Given the description of an element on the screen output the (x, y) to click on. 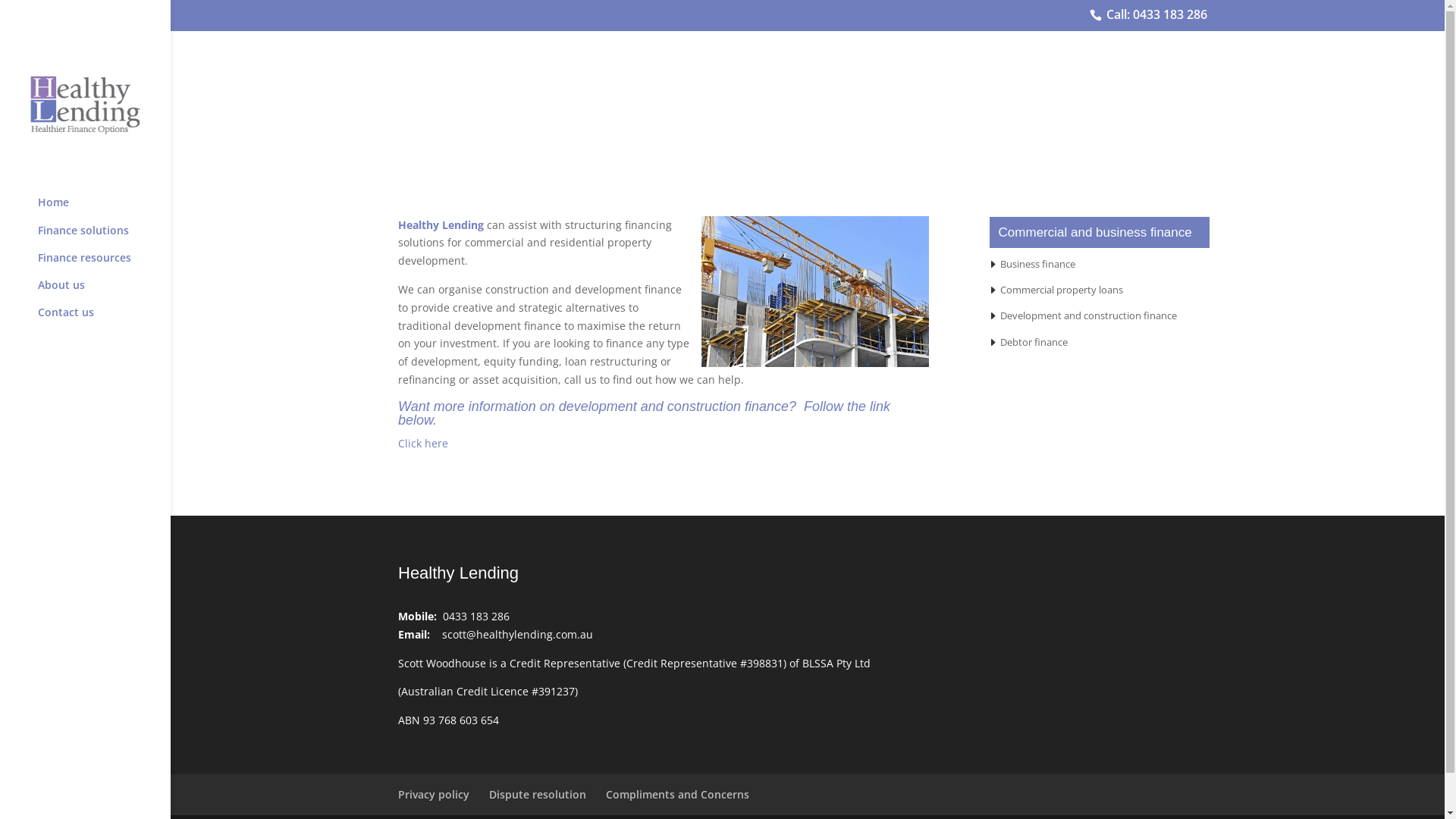
Click here Element type: text (423, 443)
Home Element type: text (100, 202)
Business finance Element type: text (1037, 263)
Commercial property loans Element type: text (1061, 289)
About us Element type: text (100, 284)
Finance resources Element type: text (100, 257)
Compliments and Concerns Element type: text (677, 794)
Contact us Element type: text (100, 312)
Development and construction finance Element type: text (1088, 315)
Privacy policy Element type: text (433, 794)
Debtor finance Element type: text (1033, 341)
Call: 0433 183 286 Element type: text (1153, 15)
Finance solutions Element type: text (100, 230)
Dispute resolution Element type: text (537, 794)
